Given the description of an element on the screen output the (x, y) to click on. 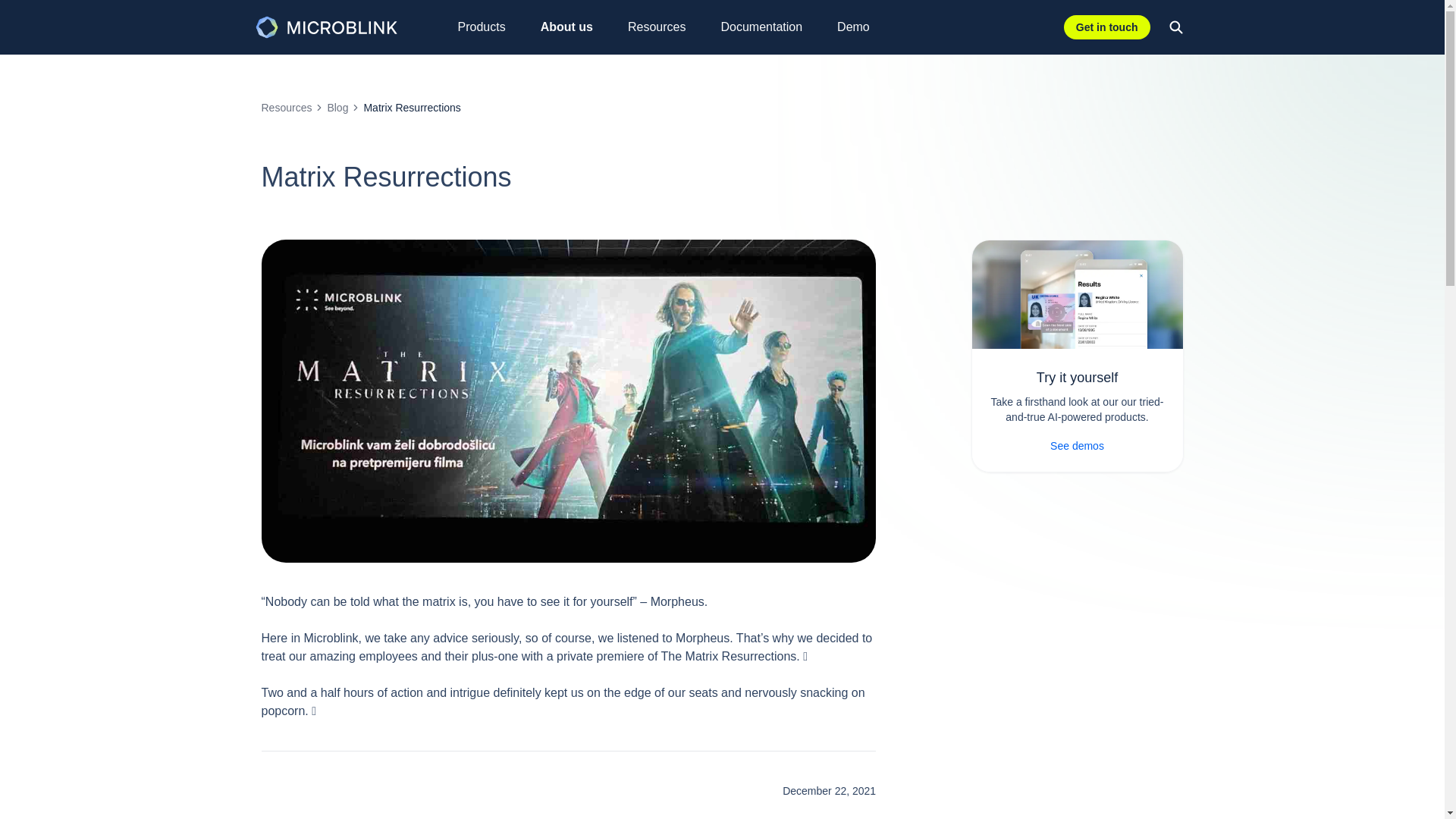
Documentation (769, 27)
Resources (664, 27)
About us (575, 27)
Products (490, 27)
Blog (336, 107)
Resources (285, 107)
Demo (861, 27)
Get in touch (1107, 27)
